Given the description of an element on the screen output the (x, y) to click on. 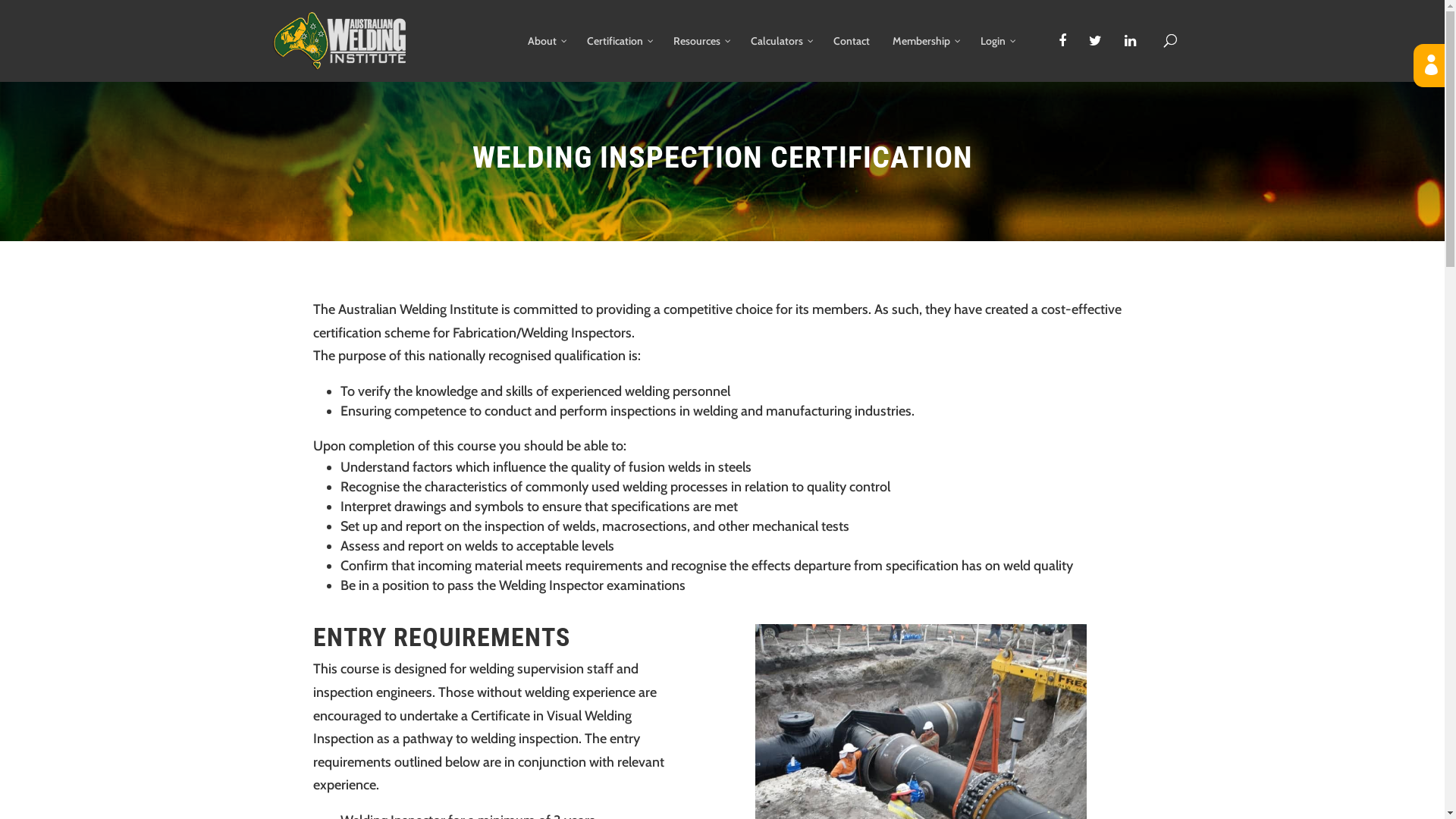
Login Element type: text (1074, 266)
Calculators Element type: text (779, 57)
Facebook Element type: hover (1061, 41)
Login Element type: text (996, 57)
Certification Element type: text (617, 57)
Membership Element type: text (925, 57)
Resources Element type: text (699, 57)
Contact Element type: text (851, 57)
About Element type: text (544, 57)
LinkedIn Element type: hover (1130, 41)
Twitter Element type: hover (1094, 41)
